Given the description of an element on the screen output the (x, y) to click on. 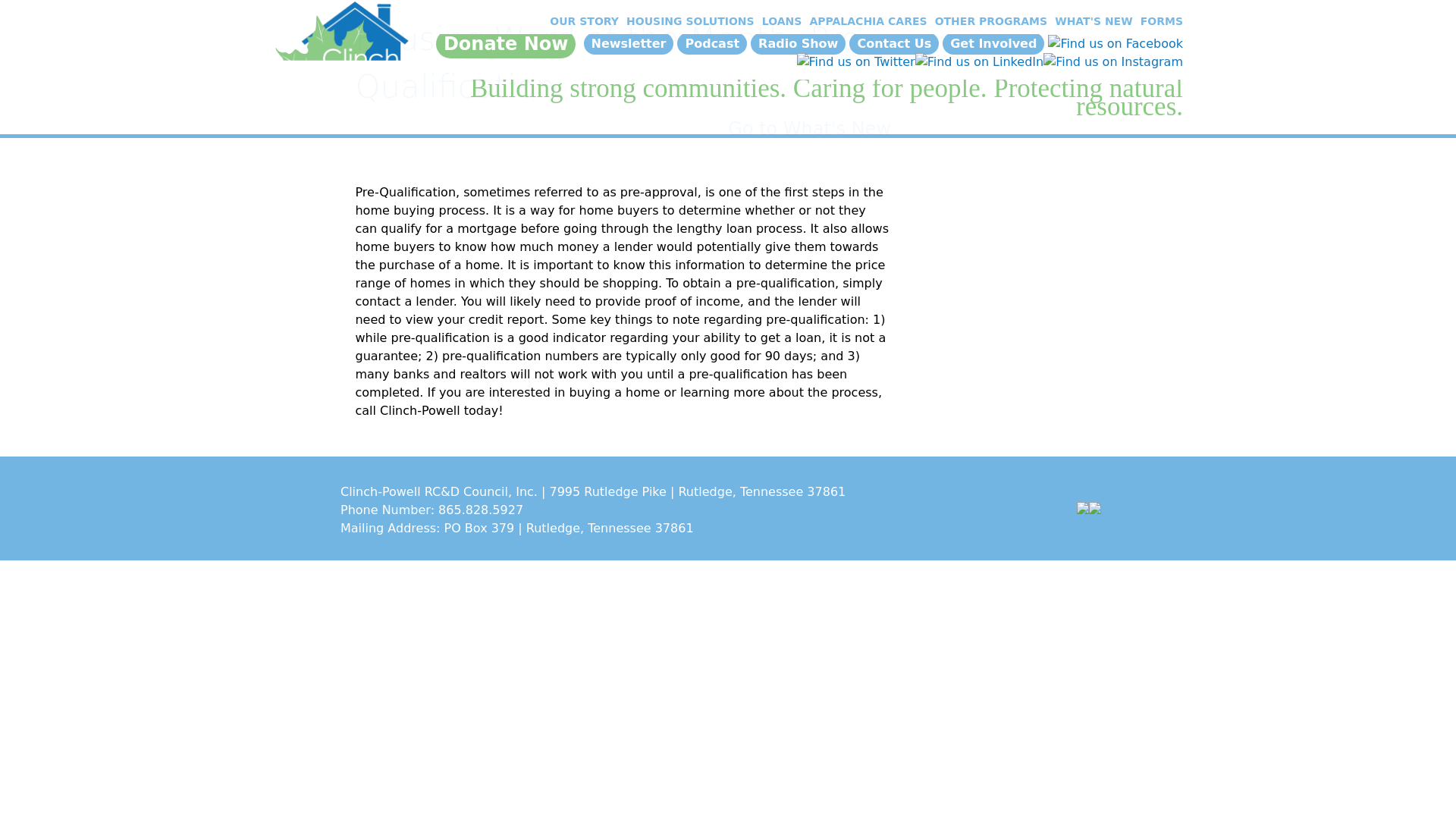
Home (341, 52)
APPALACHIA CARES (865, 21)
Radio Show (798, 43)
Go to What's New (809, 128)
WHAT'S NEW (1091, 21)
OTHER PROGRAMS (988, 21)
Newsletter (628, 43)
FORMS (1159, 21)
LOANS (780, 21)
Podcast (711, 43)
